Given the description of an element on the screen output the (x, y) to click on. 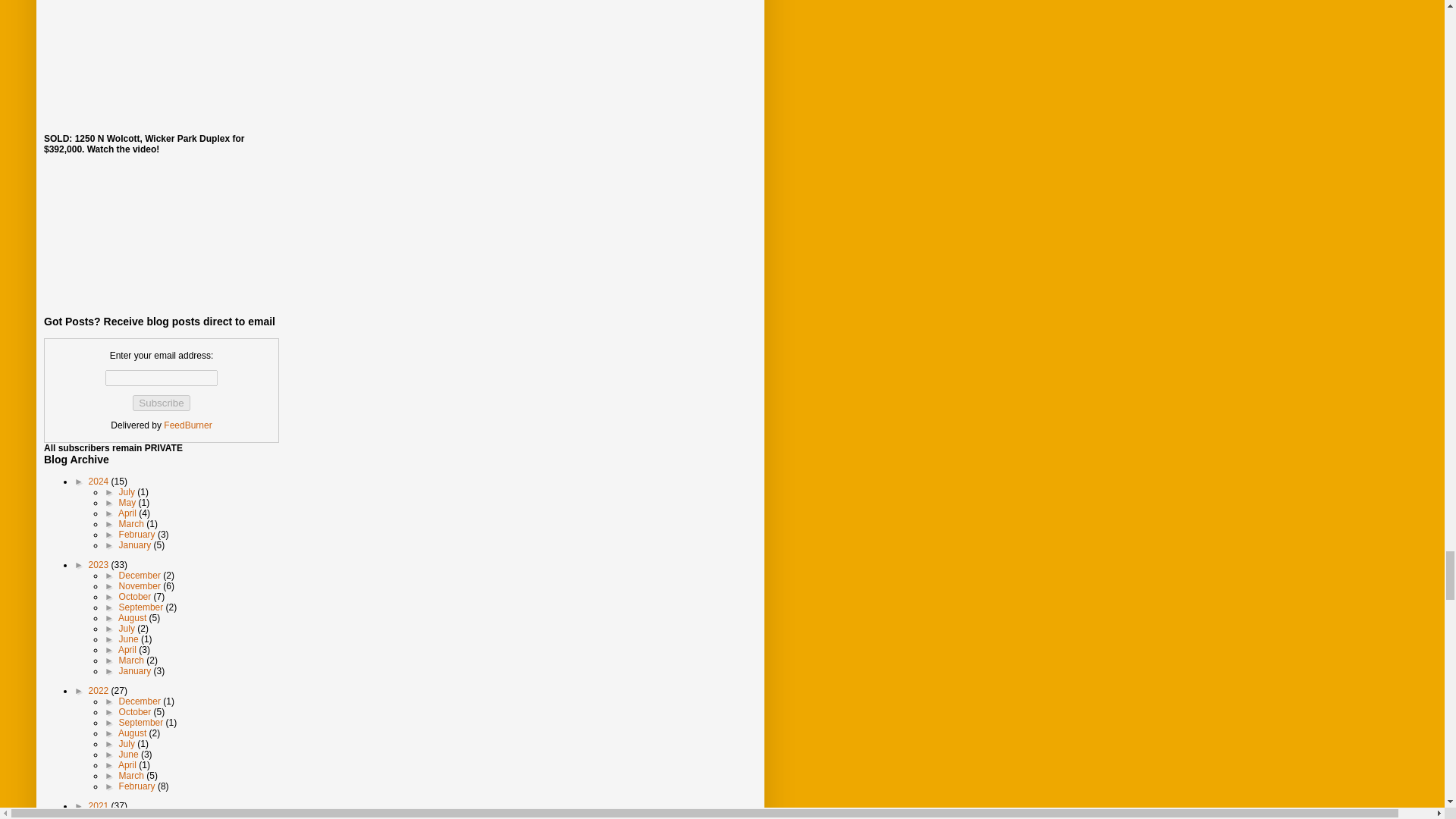
Subscribe (160, 402)
